Given the description of an element on the screen output the (x, y) to click on. 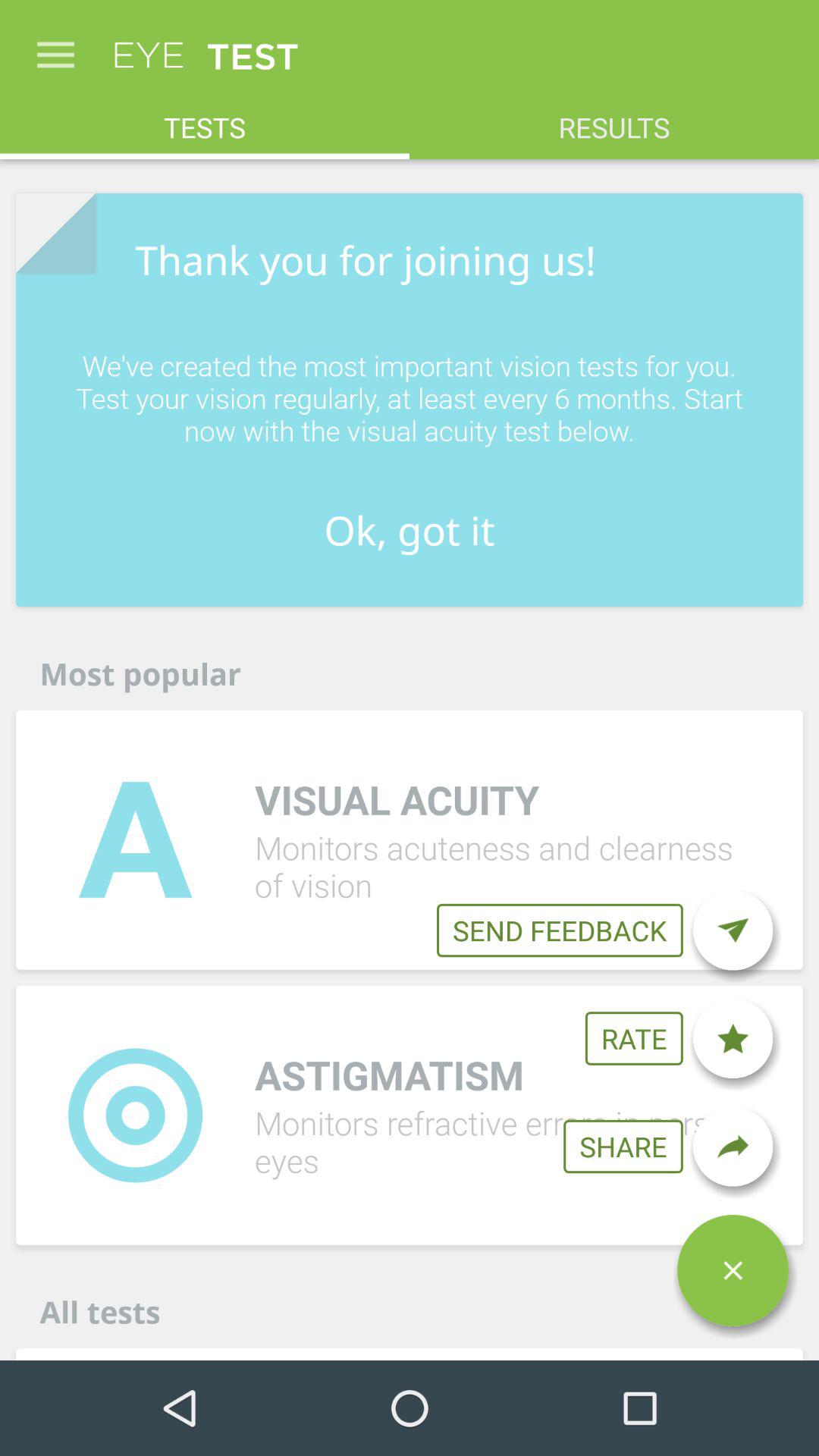
turn on the item at the top right corner (614, 119)
